Given the description of an element on the screen output the (x, y) to click on. 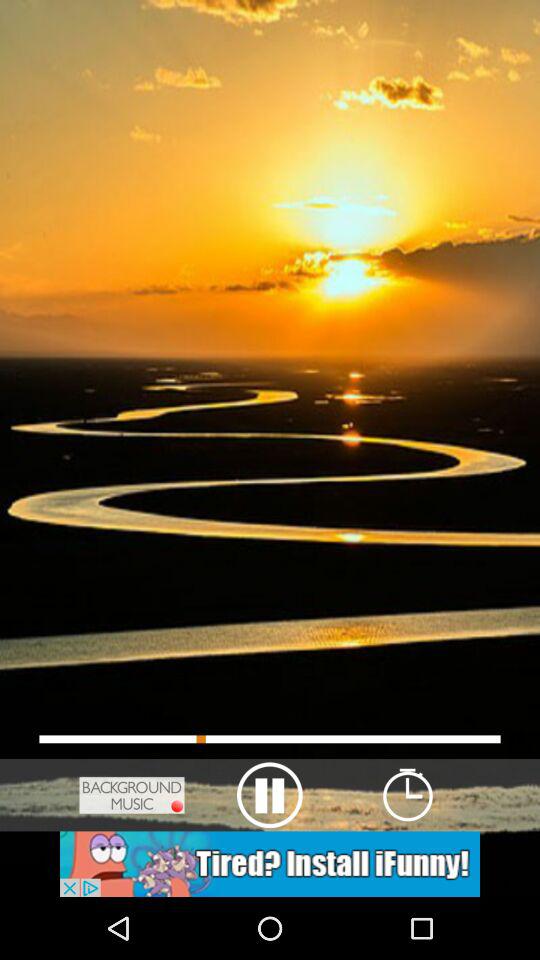
go to the ifunny app page (270, 864)
